Given the description of an element on the screen output the (x, y) to click on. 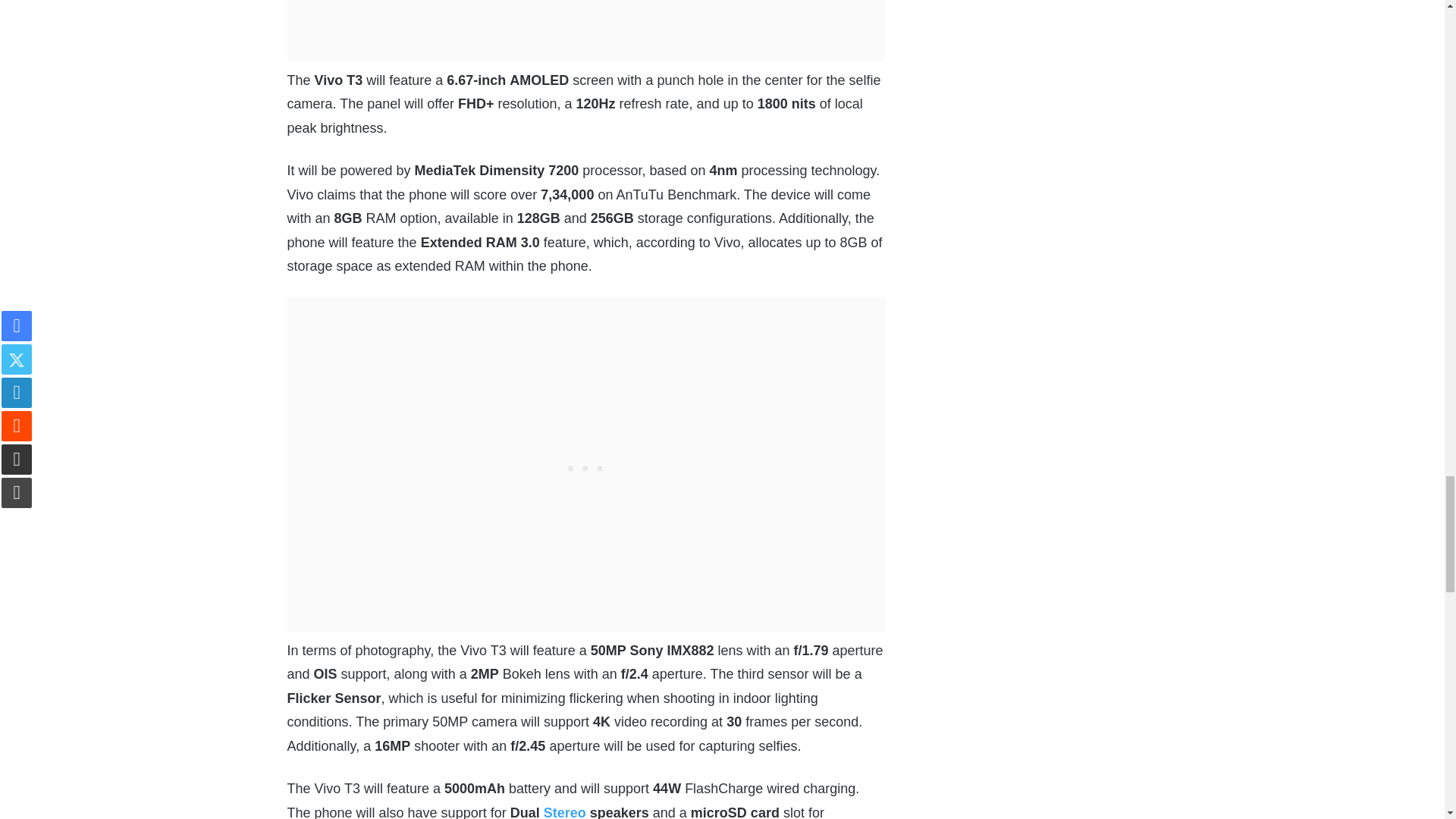
Stereo (564, 812)
